Given the description of an element on the screen output the (x, y) to click on. 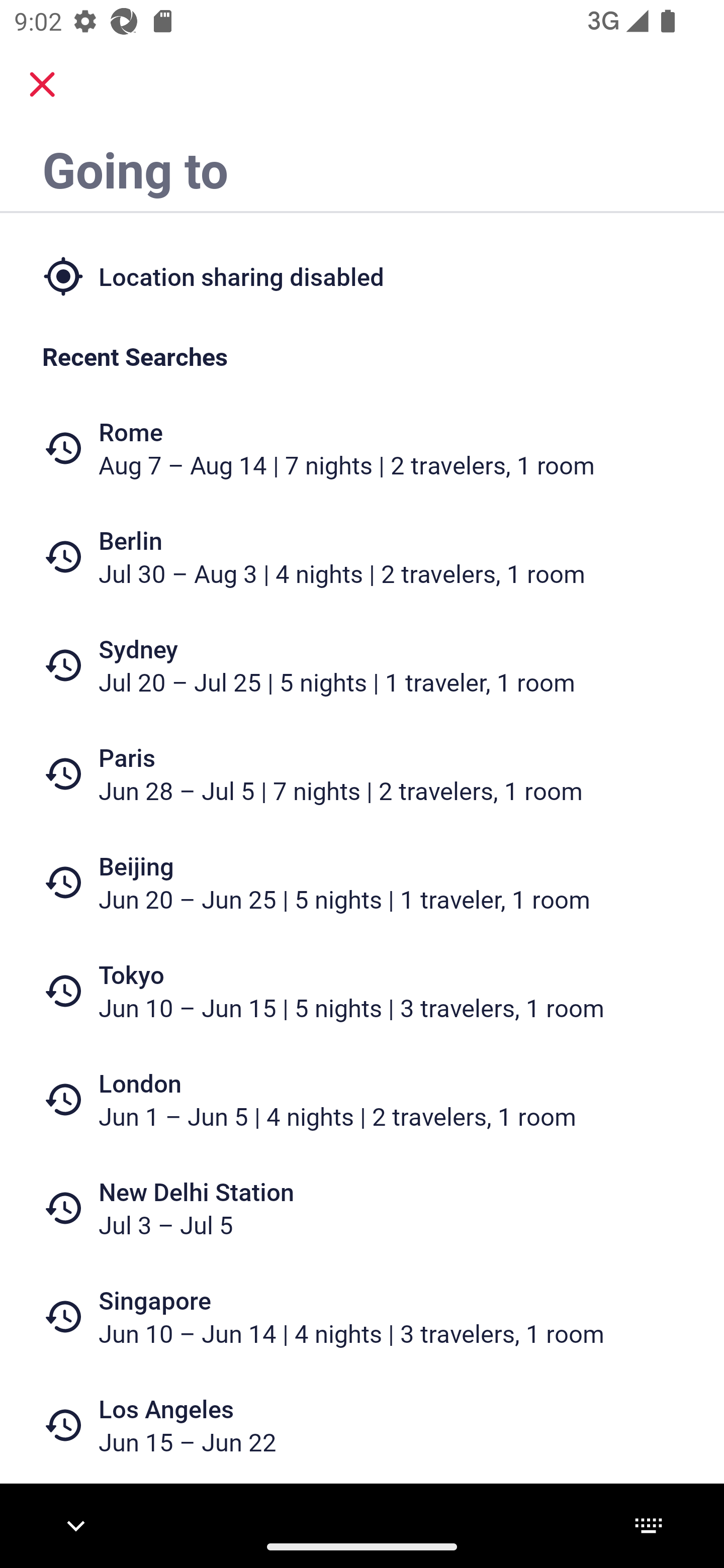
close. (42, 84)
Location sharing disabled (362, 275)
New Delhi Station Jul 3 – Jul 5 (362, 1208)
Los Angeles Jun 15 – Jun 22 (362, 1425)
